Given the description of an element on the screen output the (x, y) to click on. 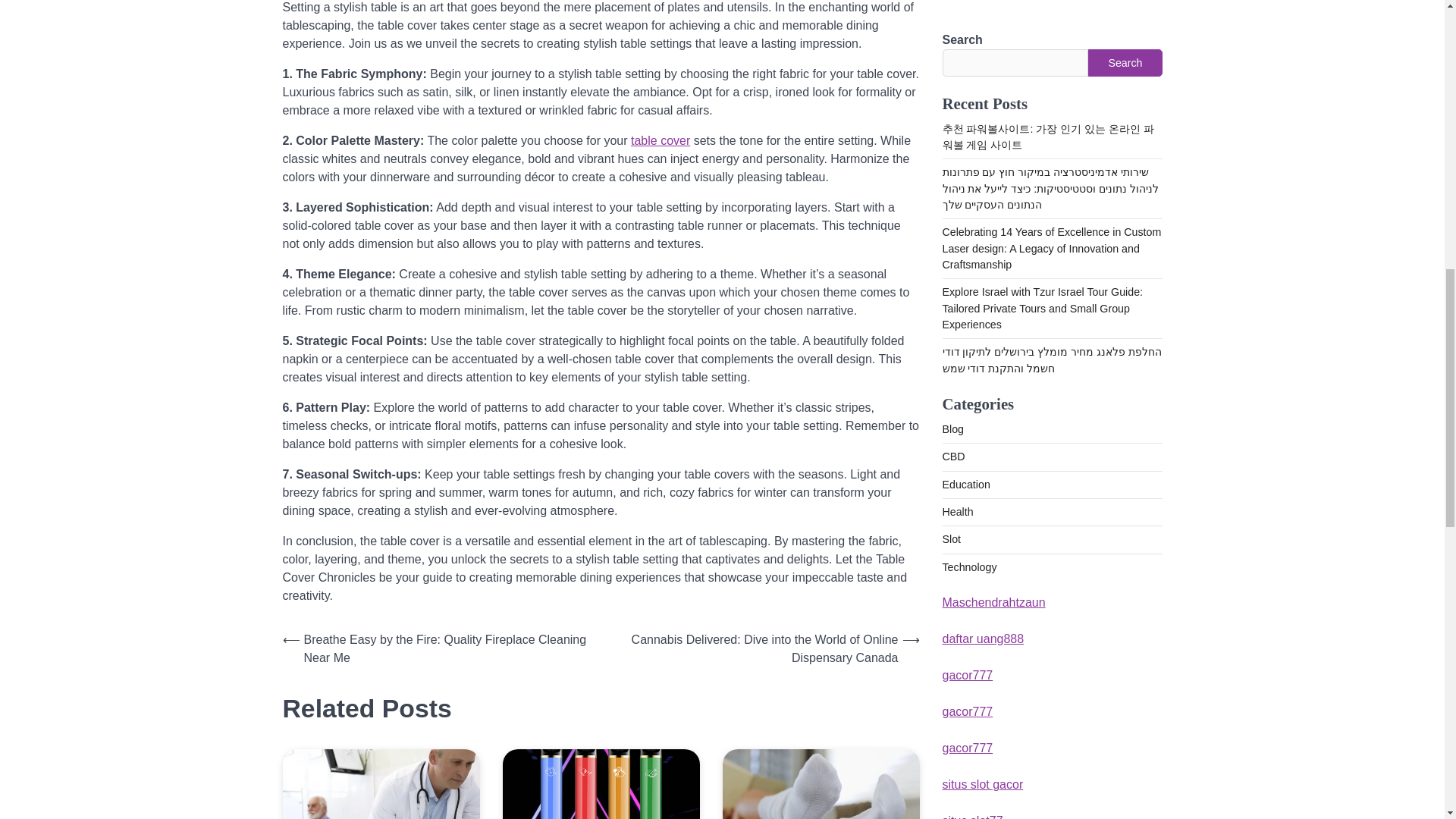
situs slot77 (972, 178)
gacor777 (967, 33)
daftar uang888 (982, 2)
gacor777 (967, 69)
table cover (660, 140)
situs slot gacor (982, 142)
gacor777 (967, 106)
